Given the description of an element on the screen output the (x, y) to click on. 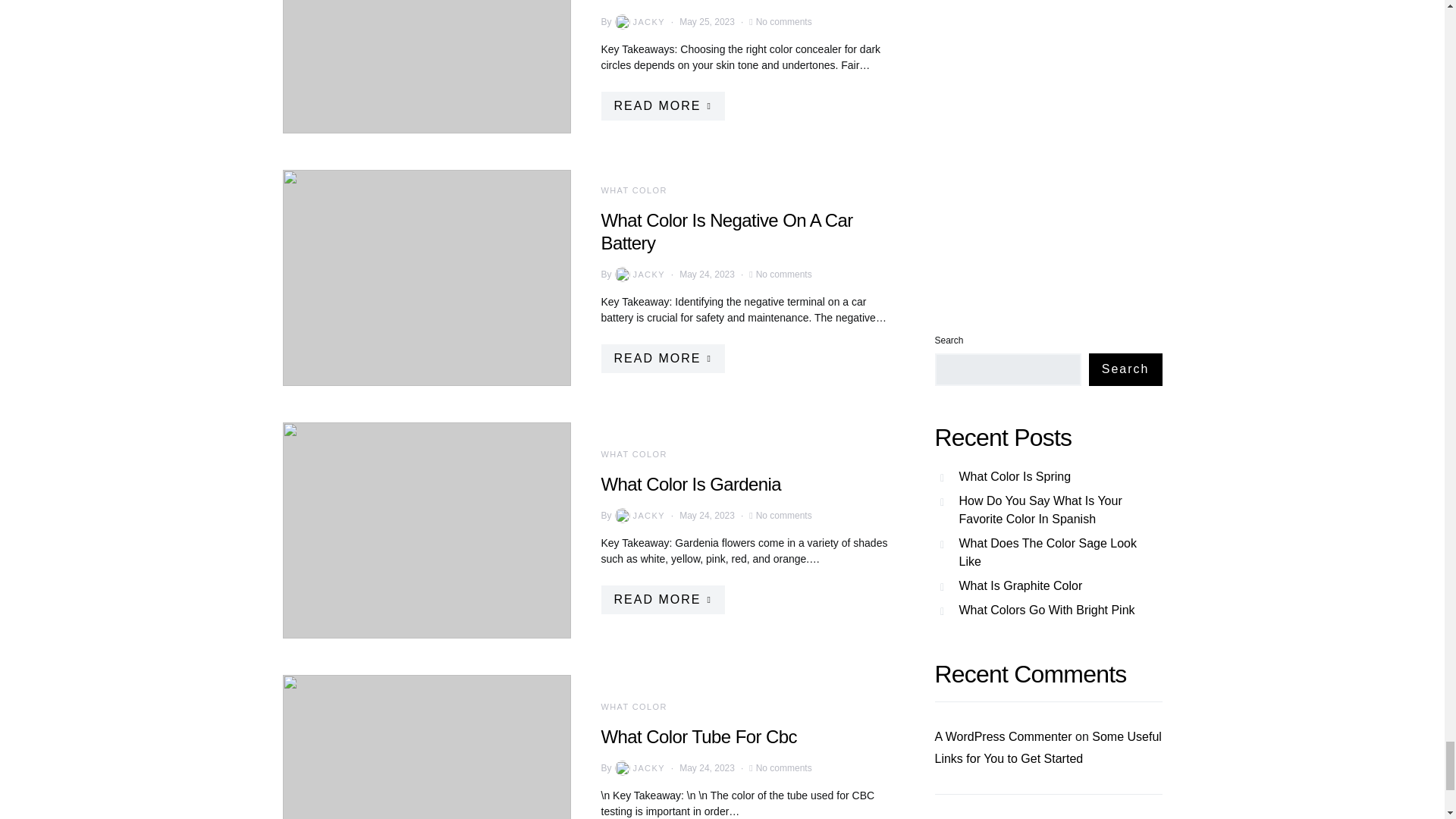
JACKY (638, 21)
No comments (783, 21)
View all posts by Jacky (638, 273)
View all posts by Jacky (638, 767)
View all posts by Jacky (638, 515)
READ MORE (661, 105)
View all posts by Jacky (638, 21)
